Given the description of an element on the screen output the (x, y) to click on. 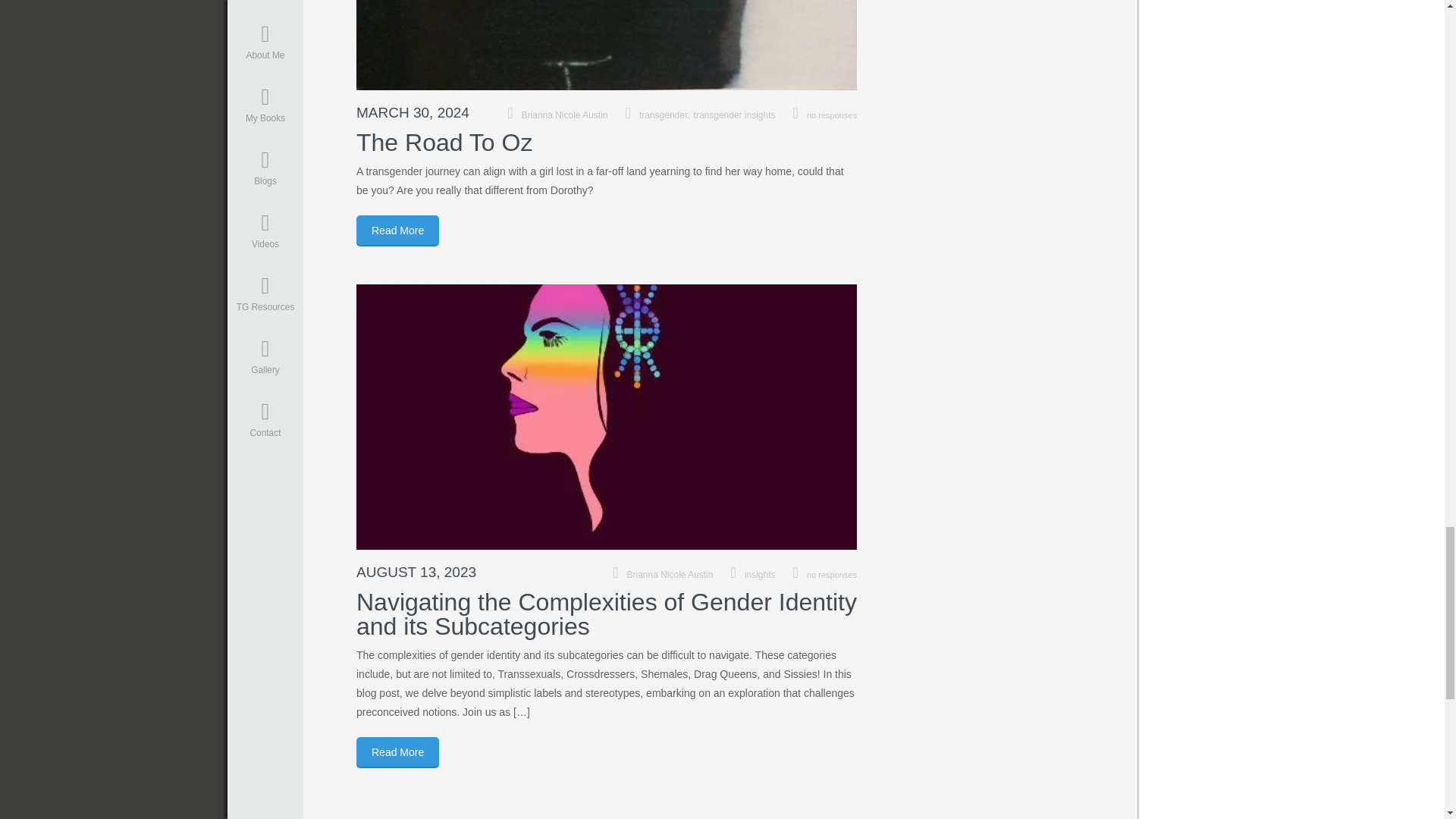
transgender, (666, 114)
transgender insights (735, 114)
The Road To Oz (444, 142)
Brianna Nicole Austin (670, 574)
Read More (397, 230)
Brianna Nicole Austin (564, 114)
insights (760, 574)
